Given the description of an element on the screen output the (x, y) to click on. 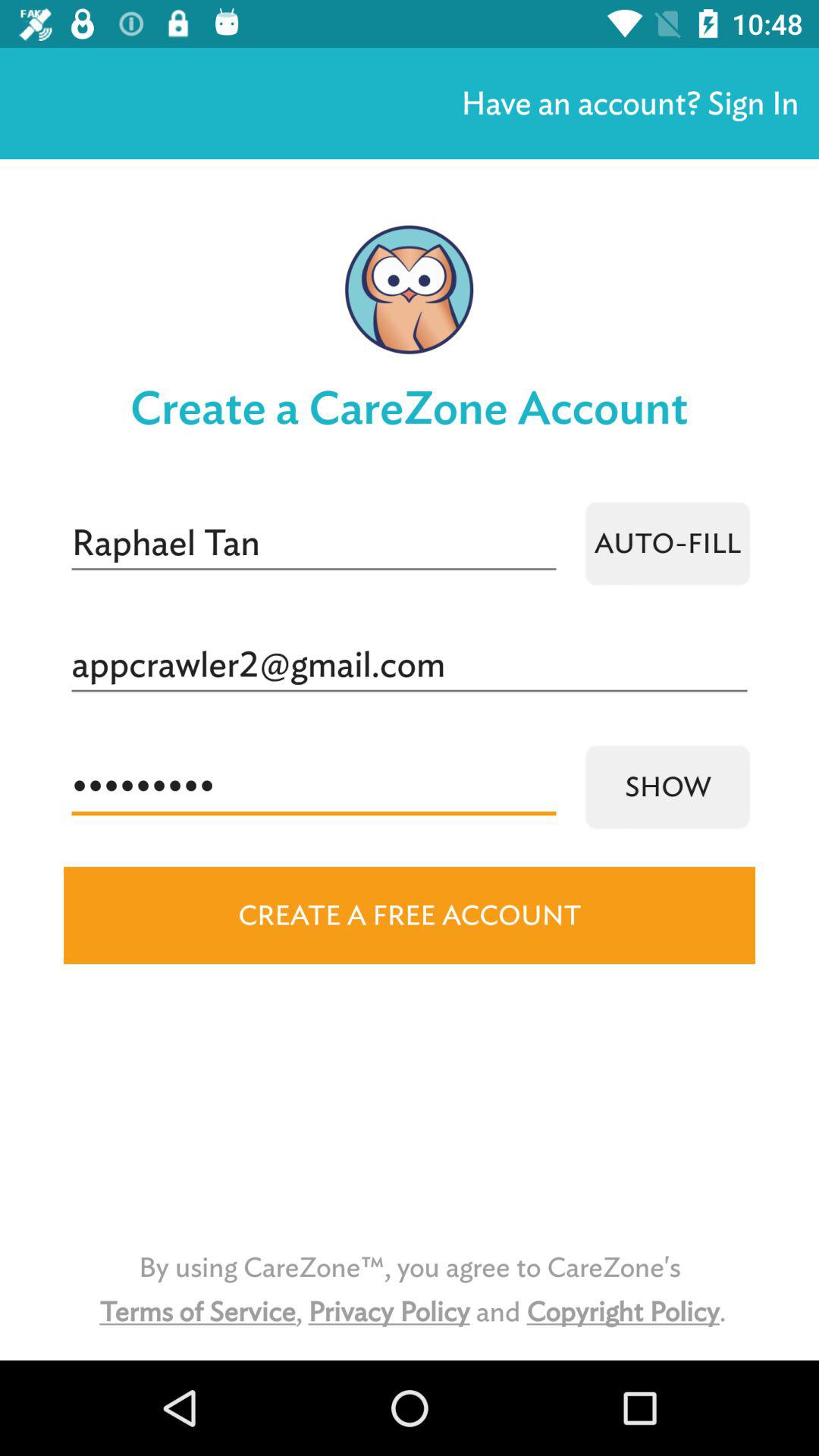
select the icon to the right of raphael tan (667, 543)
